Given the description of an element on the screen output the (x, y) to click on. 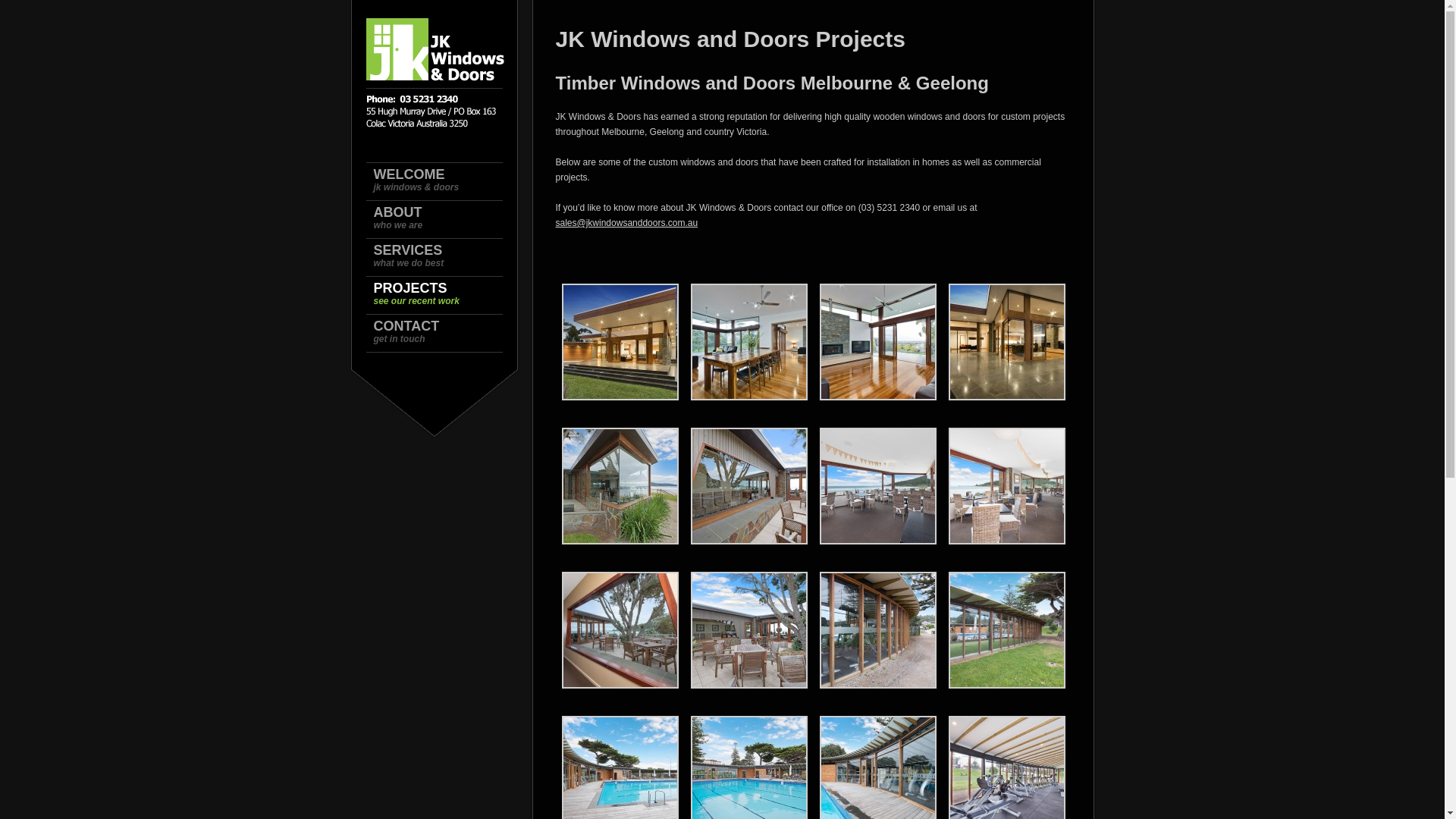
SERVICES
what we do best Element type: text (441, 257)
WELCOME
jk windows & doors Element type: text (441, 181)
Nevair Court Element type: hover (877, 404)
Lorne Pool & Cafe Element type: hover (1005, 548)
Nevair Court  Element type: hover (748, 404)
Lorne Pool & Cafe Element type: hover (748, 548)
sales@jkwindowsanddoors.com.au Element type: text (626, 222)
Lorne pool & Cafe Element type: hover (748, 692)
Lorne Pool & Cafe Element type: hover (1005, 692)
Lorne Pool & Cafe Element type: hover (877, 692)
Lorne Pool & Cafe Element type: hover (619, 692)
CONTACT
get in touch Element type: text (441, 333)
PROJECTS
see our recent work Element type: text (441, 295)
Nevair Court Element type: hover (619, 404)
ABOUT
who we are Element type: text (441, 219)
Lorne Pool & Cafe Element type: hover (877, 548)
Lorne Pool & Cafe Element type: hover (619, 548)
Nevair Court Element type: hover (1005, 404)
